Given the description of an element on the screen output the (x, y) to click on. 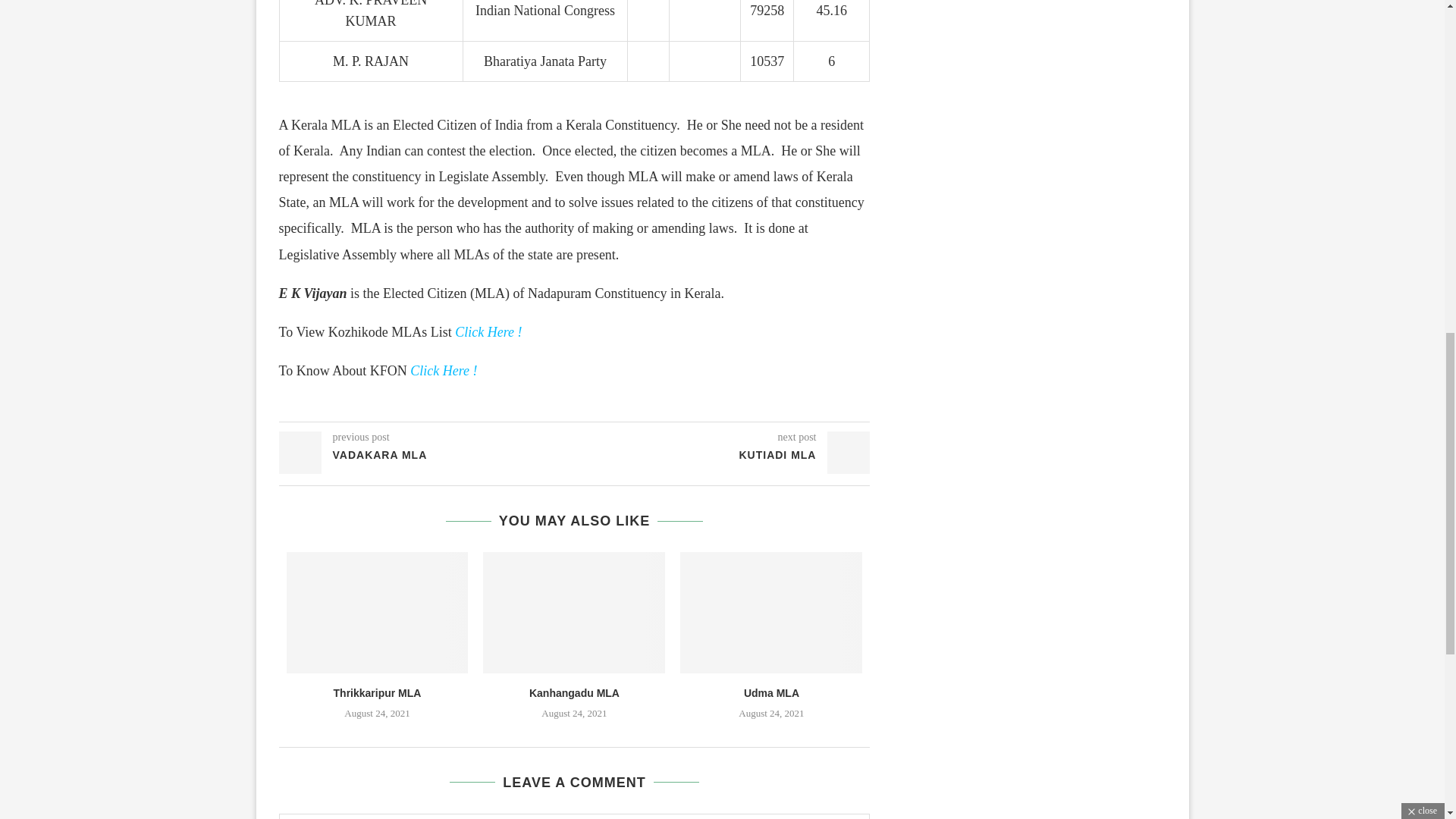
Click Here ! (443, 370)
Kanhangadu MLA (574, 693)
Udma MLA (770, 612)
Thrikkaripur MLA (377, 693)
Udma MLA (771, 693)
Click Here ! (487, 331)
Thrikkaripur MLA (377, 612)
KUTIADI MLA (722, 455)
VADAKARA MLA (427, 455)
Kanhangadu MLA (574, 612)
